Given the description of an element on the screen output the (x, y) to click on. 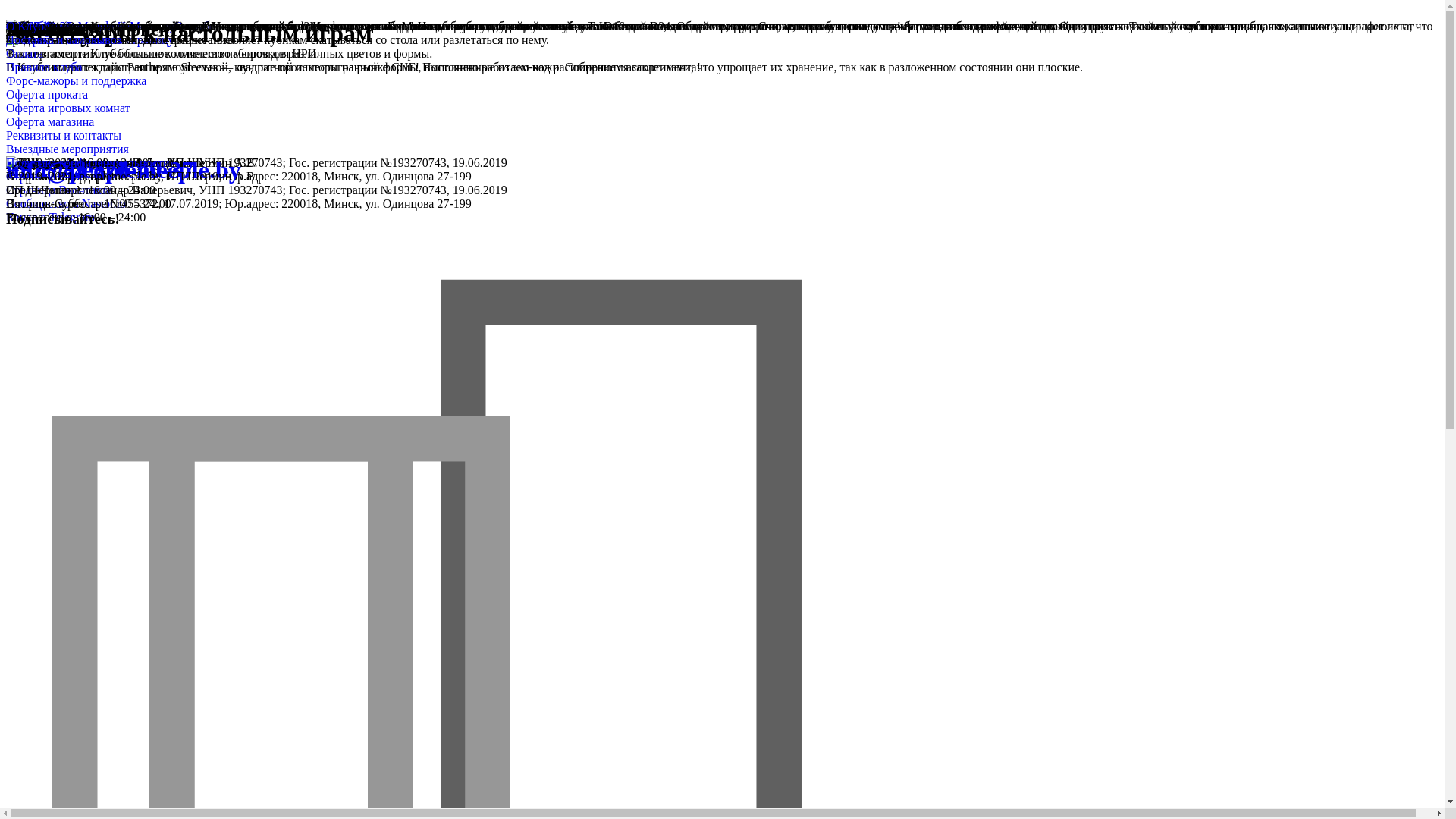
33 377-40-37 Element type: text (39, 25)
info@peoplemeeple.by Element type: text (123, 169)
+375 44 770-40-37 Element type: text (100, 169)
